Given the description of an element on the screen output the (x, y) to click on. 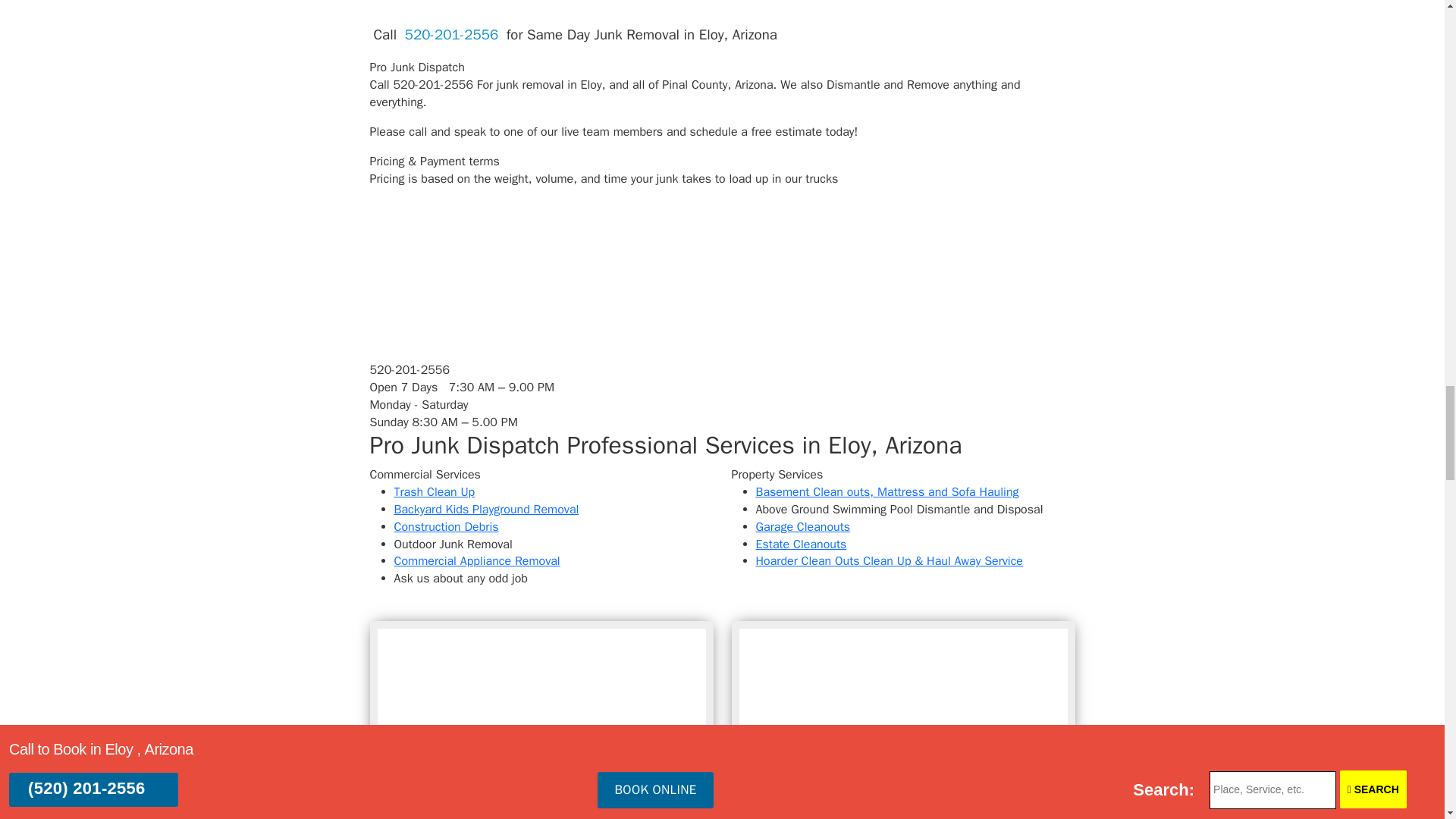
Pro Junk Dispatch logo (458, 321)
Basement Clean outs, Mattress and Sofa Hauling (886, 491)
Backyard Kids Playground Removal (486, 509)
Pro Junk Dispatch Garage Cleanout video (541, 719)
Garage Cleanouts (802, 526)
Different payment methods supported by Pro Junk Dispatch (482, 240)
Trash Clean Up (435, 491)
Pro Junk Dispatch trash cleanout video (902, 719)
Construction Debris (446, 526)
Commercial Appliance Removal (477, 560)
